Given the description of an element on the screen output the (x, y) to click on. 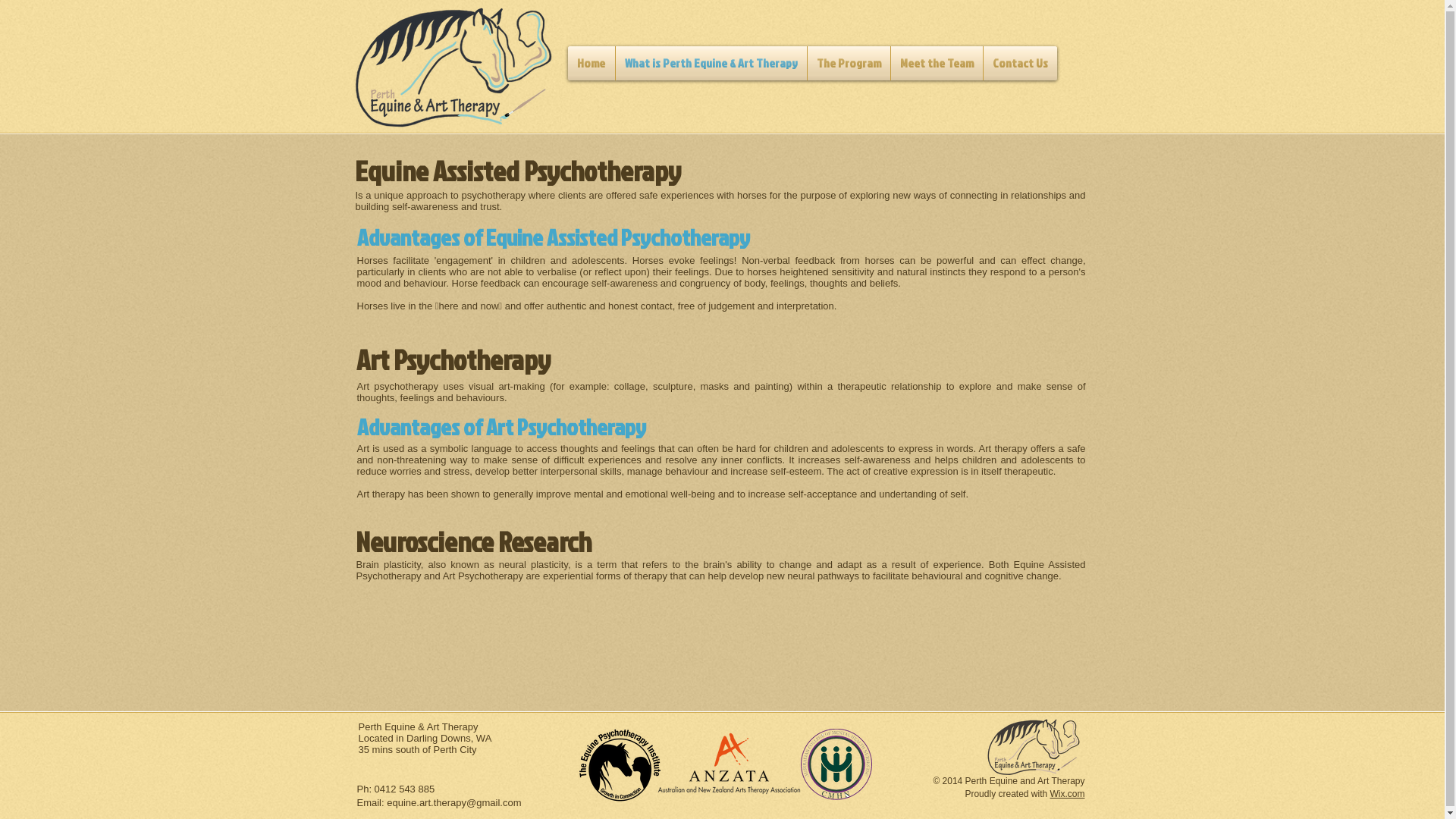
Home Element type: text (590, 63)
equine.art.therapy@gmail.com Element type: text (453, 802)
Contact Us Element type: text (1019, 63)
The Program Element type: text (847, 63)
Meet the Team Element type: text (936, 63)
Wix.com Element type: text (1066, 793)
What is Perth Equine & Art Therapy Element type: text (710, 63)
